Given the description of an element on the screen output the (x, y) to click on. 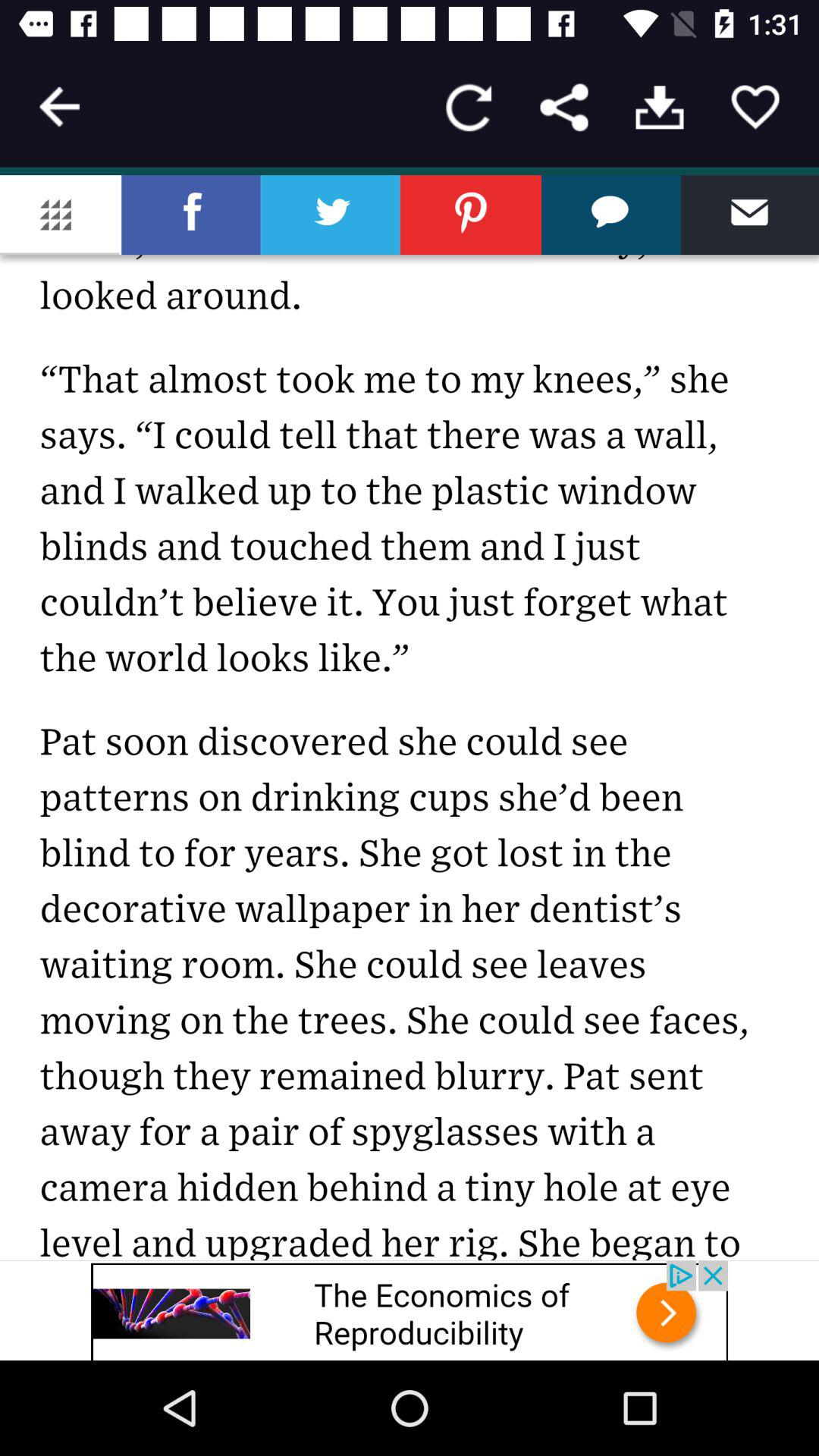
share the news (409, 717)
